Given the description of an element on the screen output the (x, y) to click on. 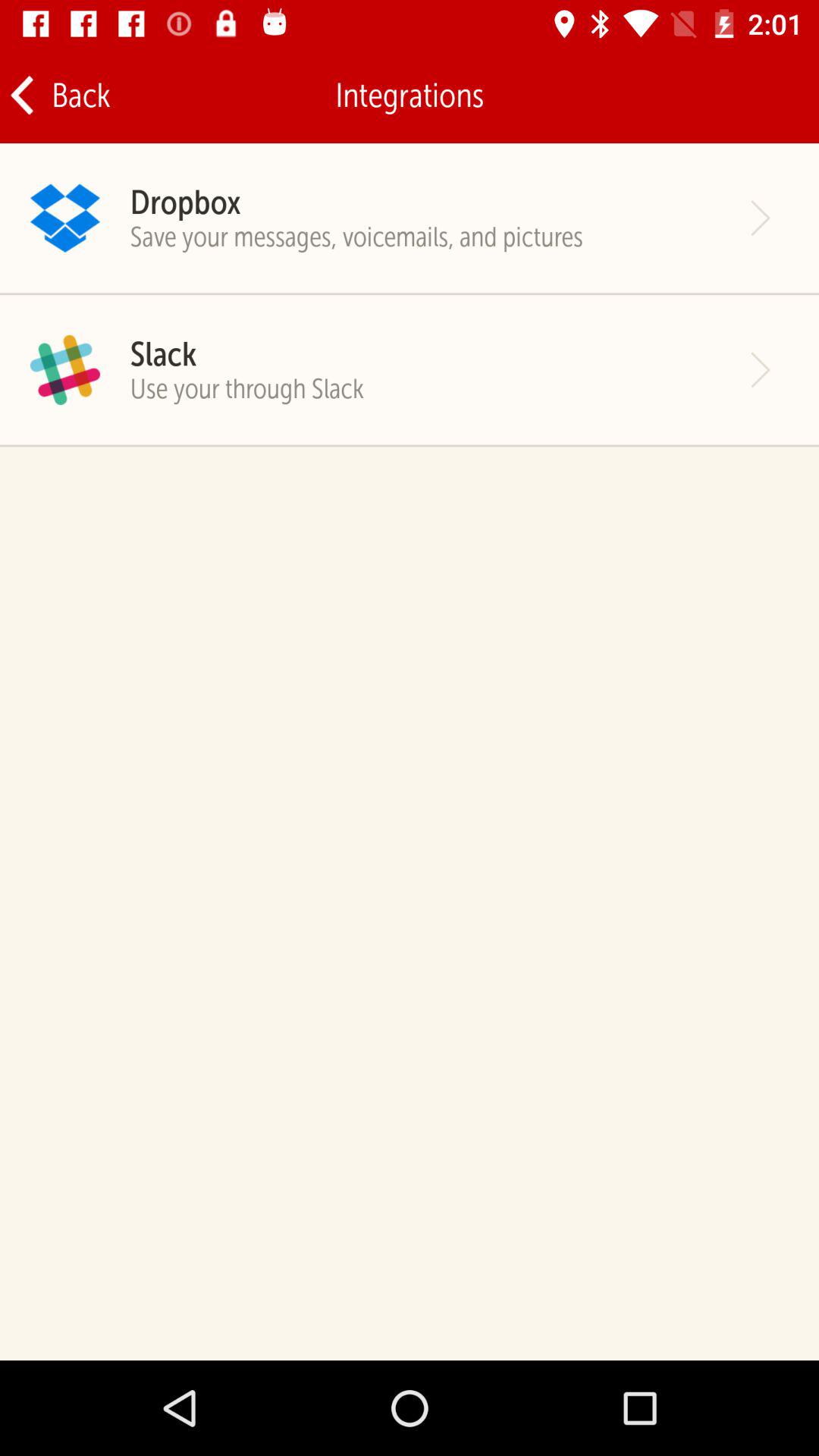
open icon to the left of integrations icon (59, 95)
